Given the description of an element on the screen output the (x, y) to click on. 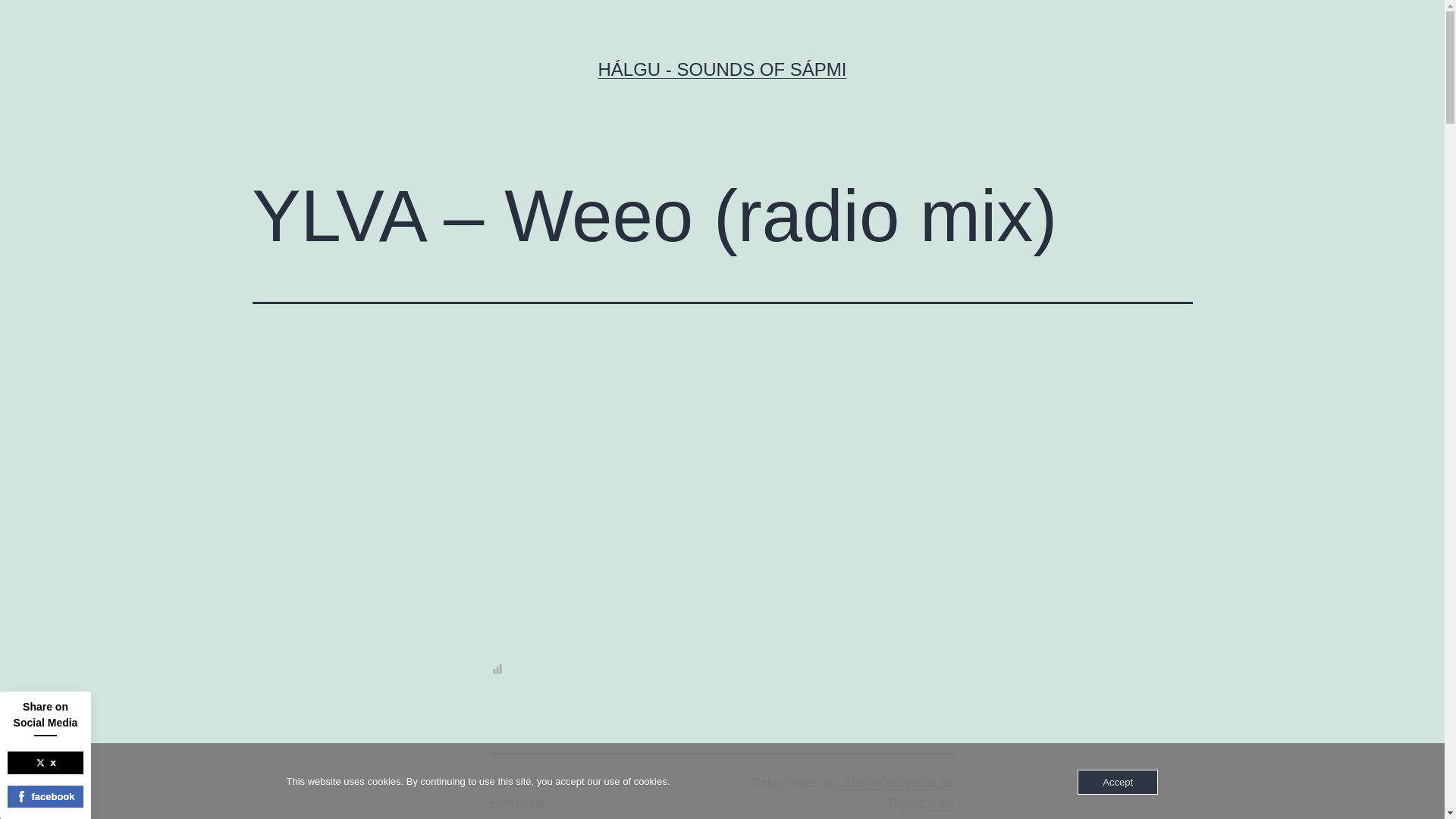
Marica (526, 802)
Ylva (941, 802)
